Given the description of an element on the screen output the (x, y) to click on. 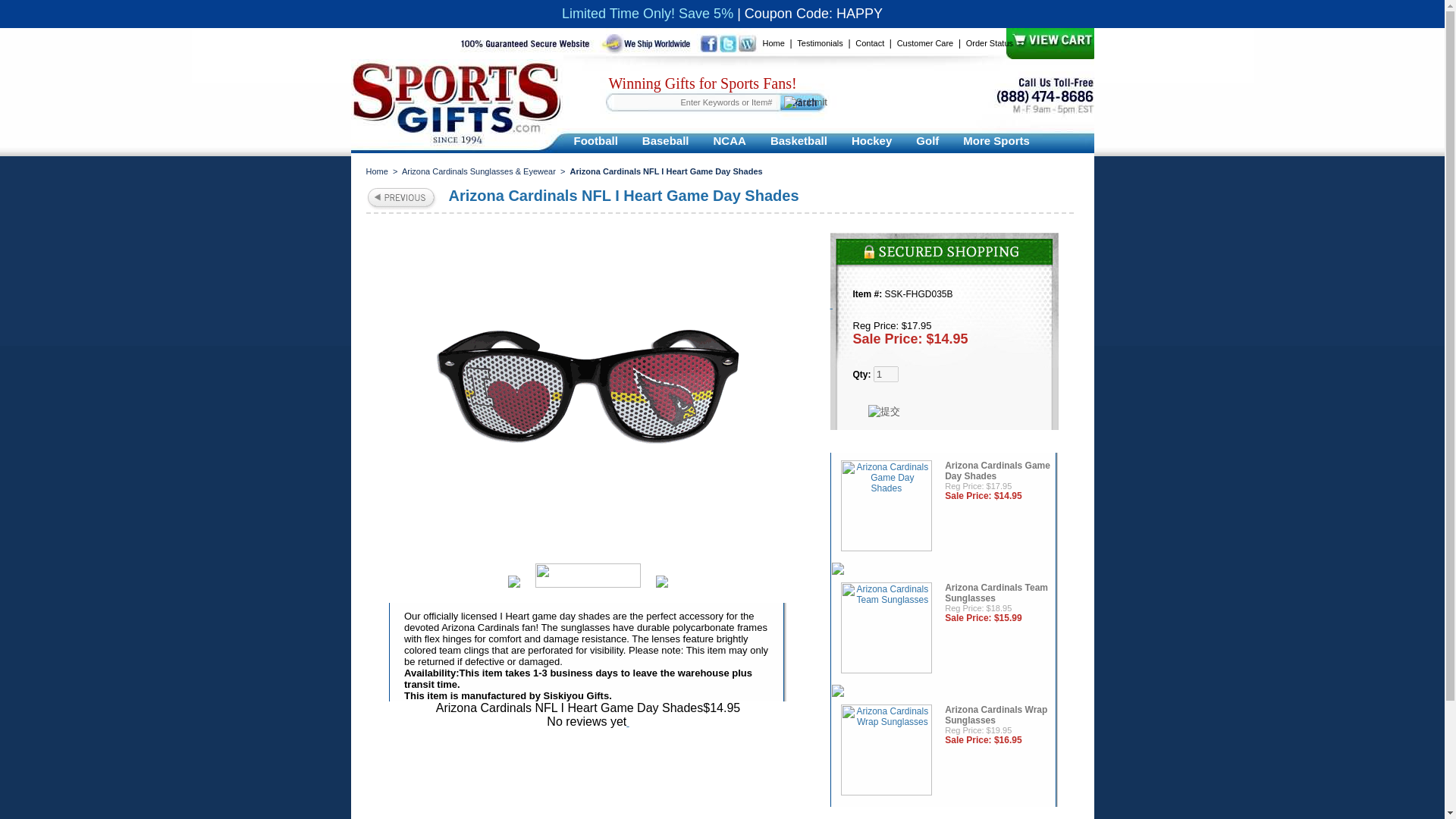
Order Status (989, 42)
NCAA (729, 140)
Hockey (872, 140)
Home (773, 42)
Football (594, 140)
Customer Care (924, 42)
Arizona Cardinals Team Sunglasses (886, 629)
Baseball (665, 140)
Golf (927, 140)
Arizona Cardinals Wrap Sunglasses (886, 751)
More Sports (996, 140)
Arizona Cardinals Game Day Shades (886, 507)
Basketball (799, 140)
1 (885, 374)
Testimonials (819, 42)
